Given the description of an element on the screen output the (x, y) to click on. 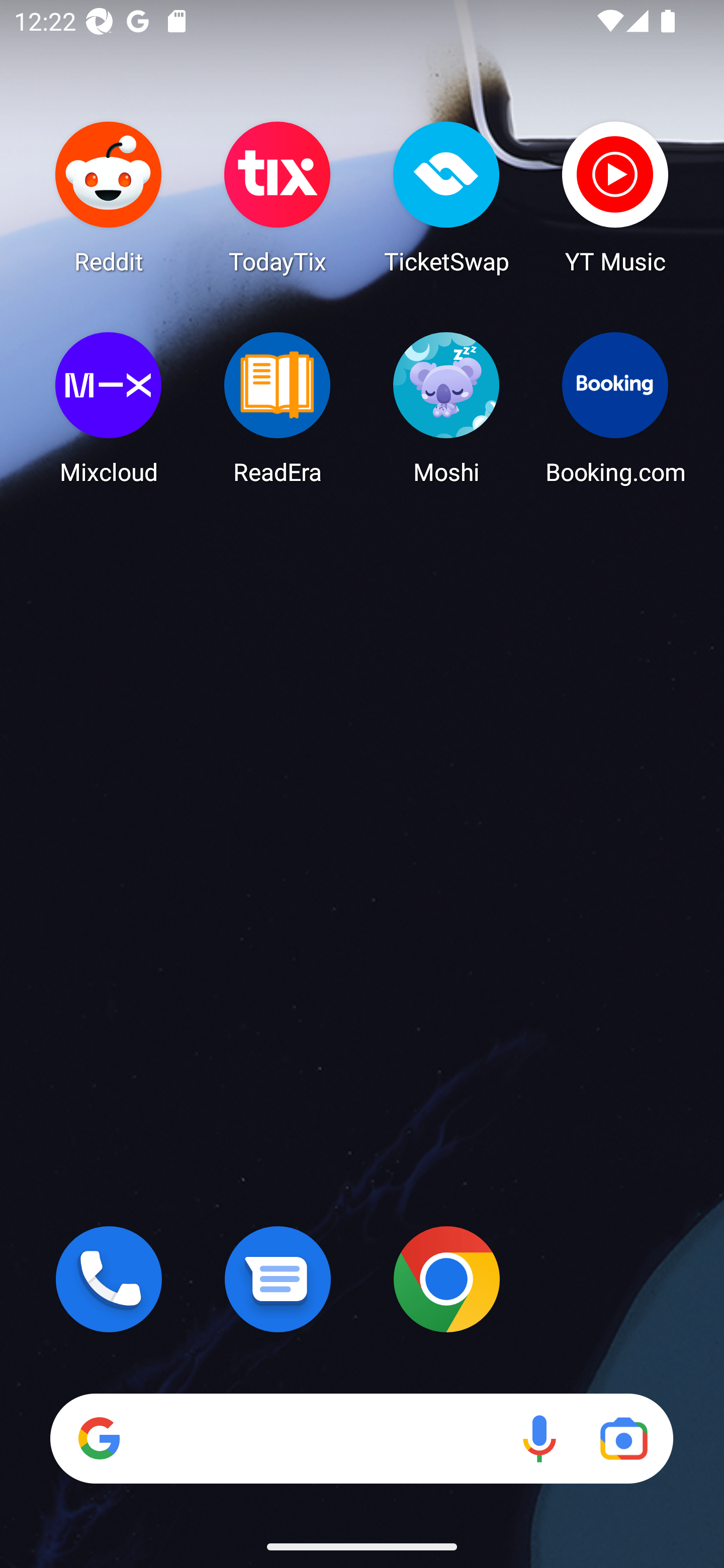
Reddit (108, 196)
TodayTix (277, 196)
TicketSwap (445, 196)
YT Music (615, 196)
Mixcloud (108, 407)
ReadEra (277, 407)
Moshi (445, 407)
Booking.com (615, 407)
Phone (108, 1279)
Messages (277, 1279)
Chrome (446, 1279)
Search Voice search Google Lens (361, 1438)
Voice search (539, 1438)
Google Lens (623, 1438)
